Given the description of an element on the screen output the (x, y) to click on. 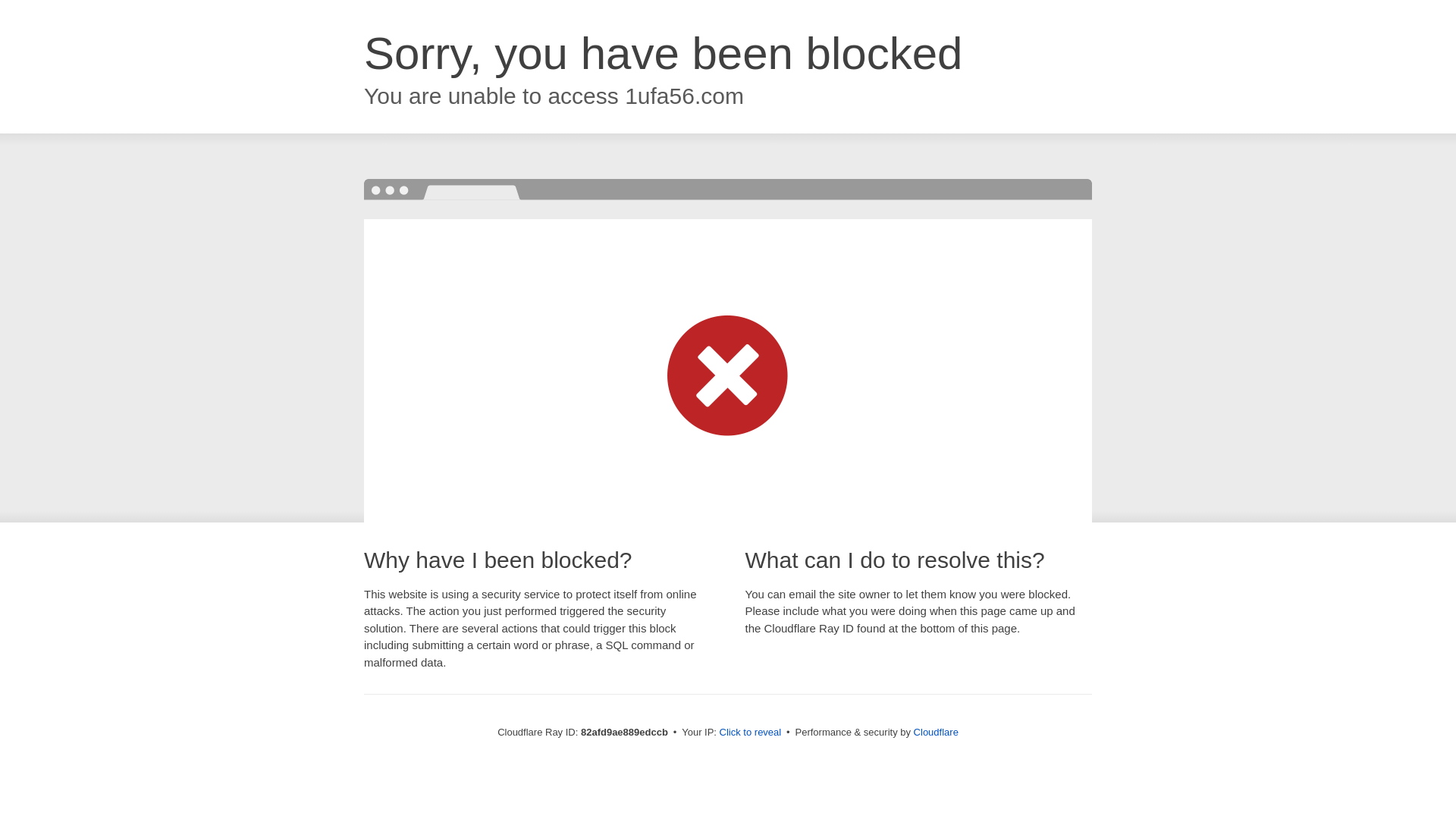
Click to reveal Element type: text (750, 732)
Cloudflare Element type: text (935, 731)
